Given the description of an element on the screen output the (x, y) to click on. 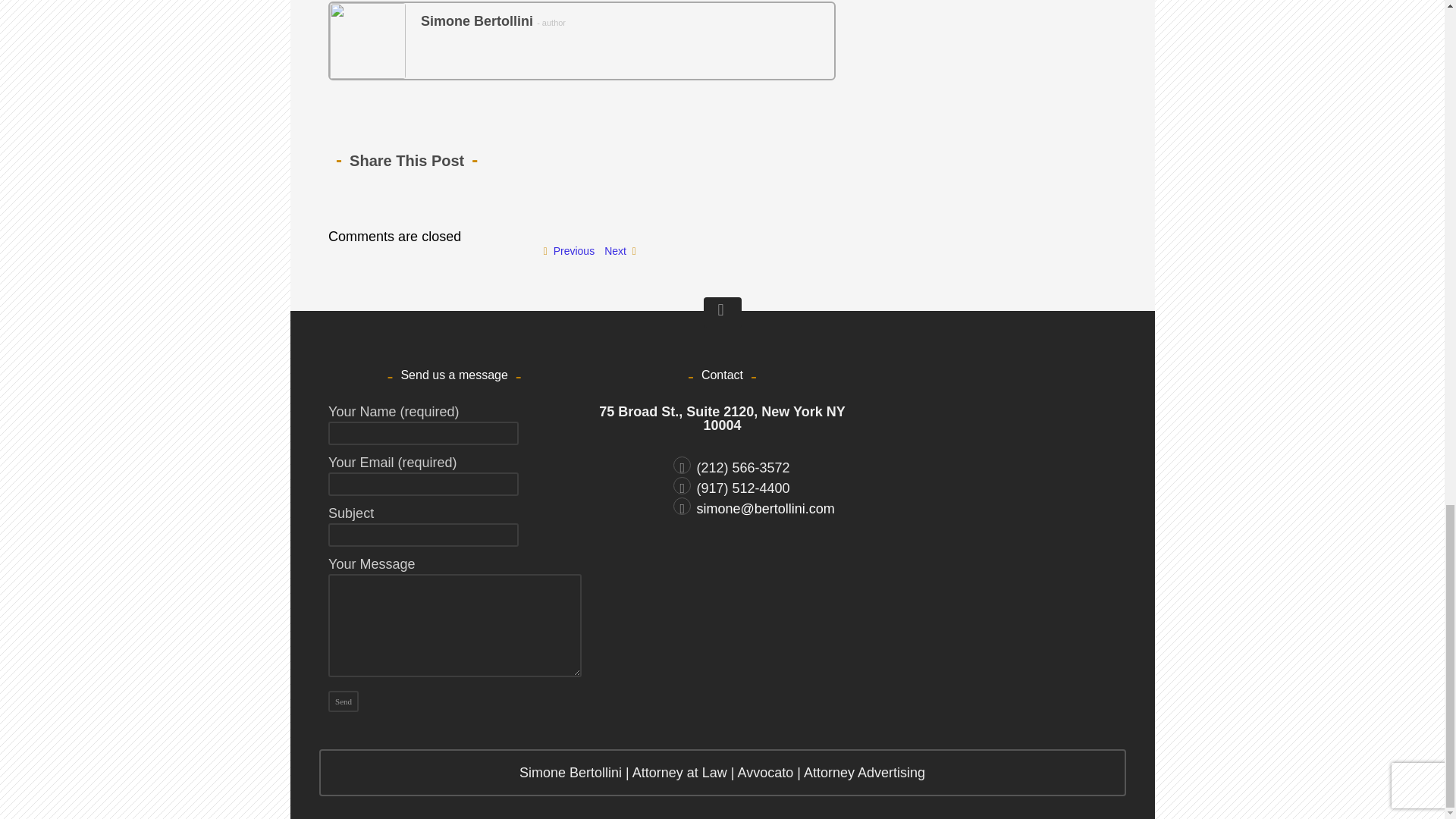
Send (343, 701)
Next (618, 250)
Previous (568, 250)
